Given the description of an element on the screen output the (x, y) to click on. 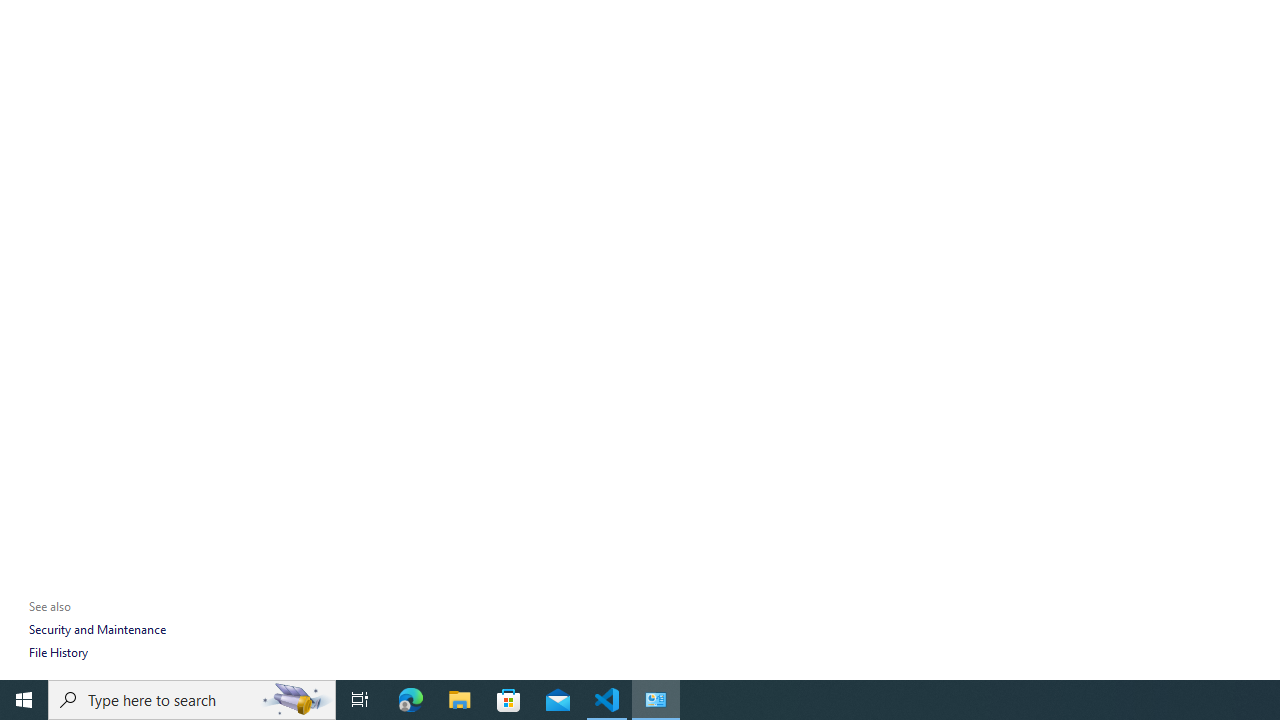
Search highlights icon opens search home window (295, 699)
Visual Studio Code - 1 running window (607, 699)
Microsoft Edge (411, 699)
File History (57, 652)
Security and Maintenance (96, 629)
Type here to search (191, 699)
Control Panel - 1 running window (656, 699)
Task View (359, 699)
File Explorer (460, 699)
Microsoft Store (509, 699)
